Given the description of an element on the screen output the (x, y) to click on. 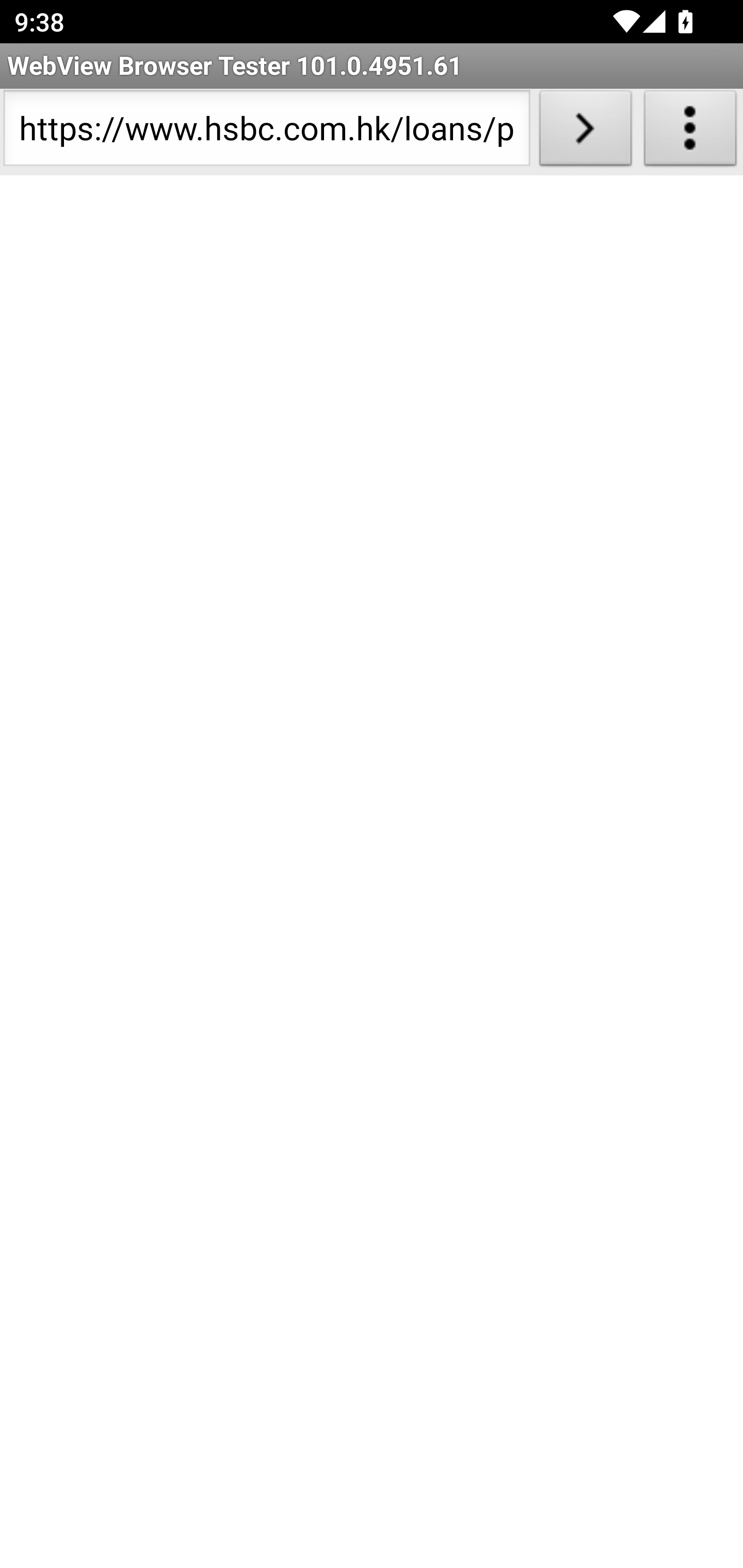
Load URL (585, 132)
About WebView (690, 132)
